Given the description of an element on the screen output the (x, y) to click on. 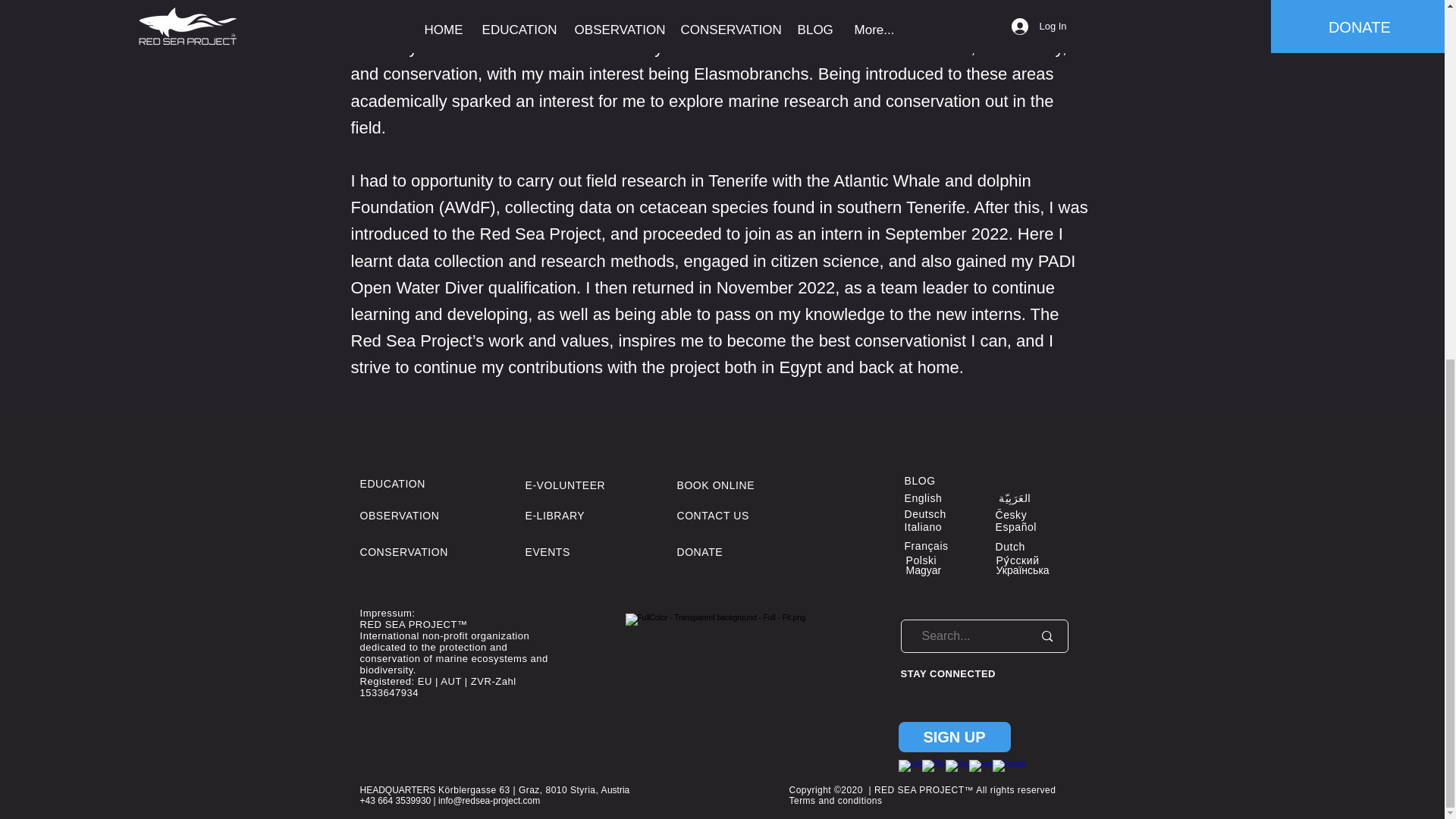
EDUCATION (392, 483)
